Given the description of an element on the screen output the (x, y) to click on. 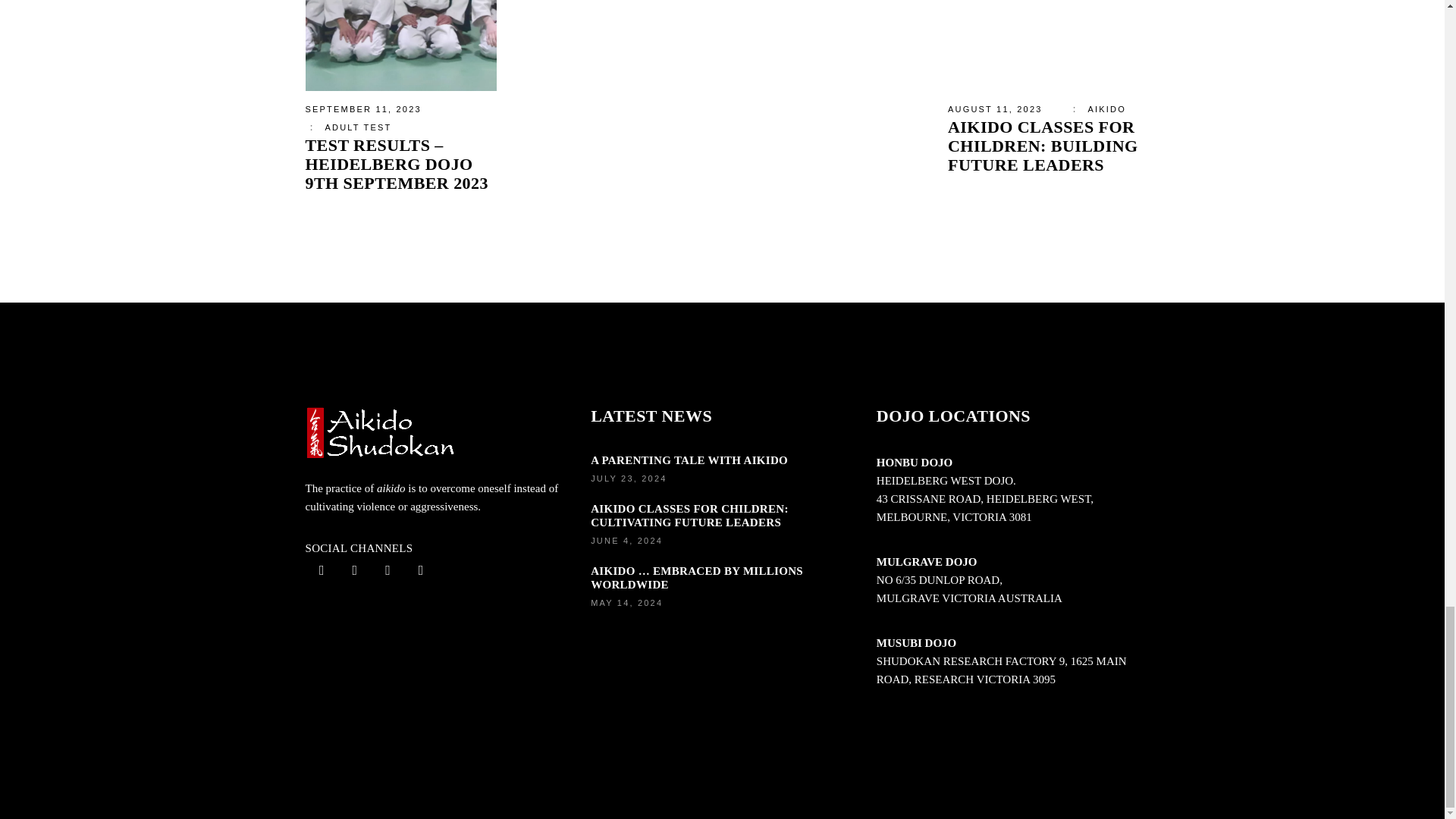
Aikido Classes for Children: Building Future Leaders (1043, 45)
Instagram (354, 571)
Youtube (320, 571)
Aikido Classes for Children: Building Future Leaders (1042, 145)
